Given the description of an element on the screen output the (x, y) to click on. 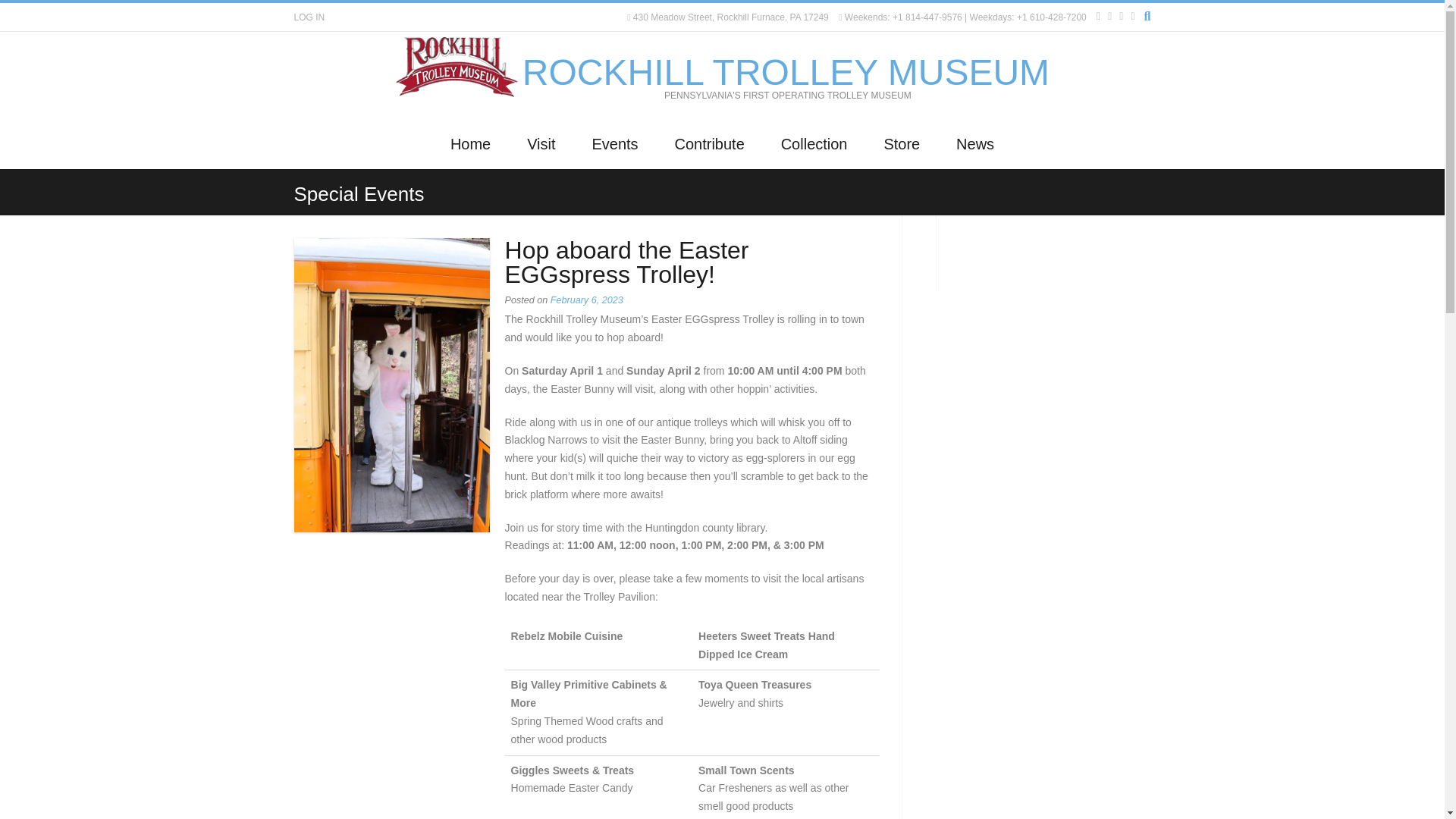
Events (613, 143)
ROCKHILL TROLLEY MUSEUM (785, 72)
Collection (814, 143)
LOG IN (309, 17)
Contribute (709, 143)
Search for: (1039, 95)
Visit (541, 143)
Rockhill Trolley Museum (785, 72)
Home (469, 143)
